Given the description of an element on the screen output the (x, y) to click on. 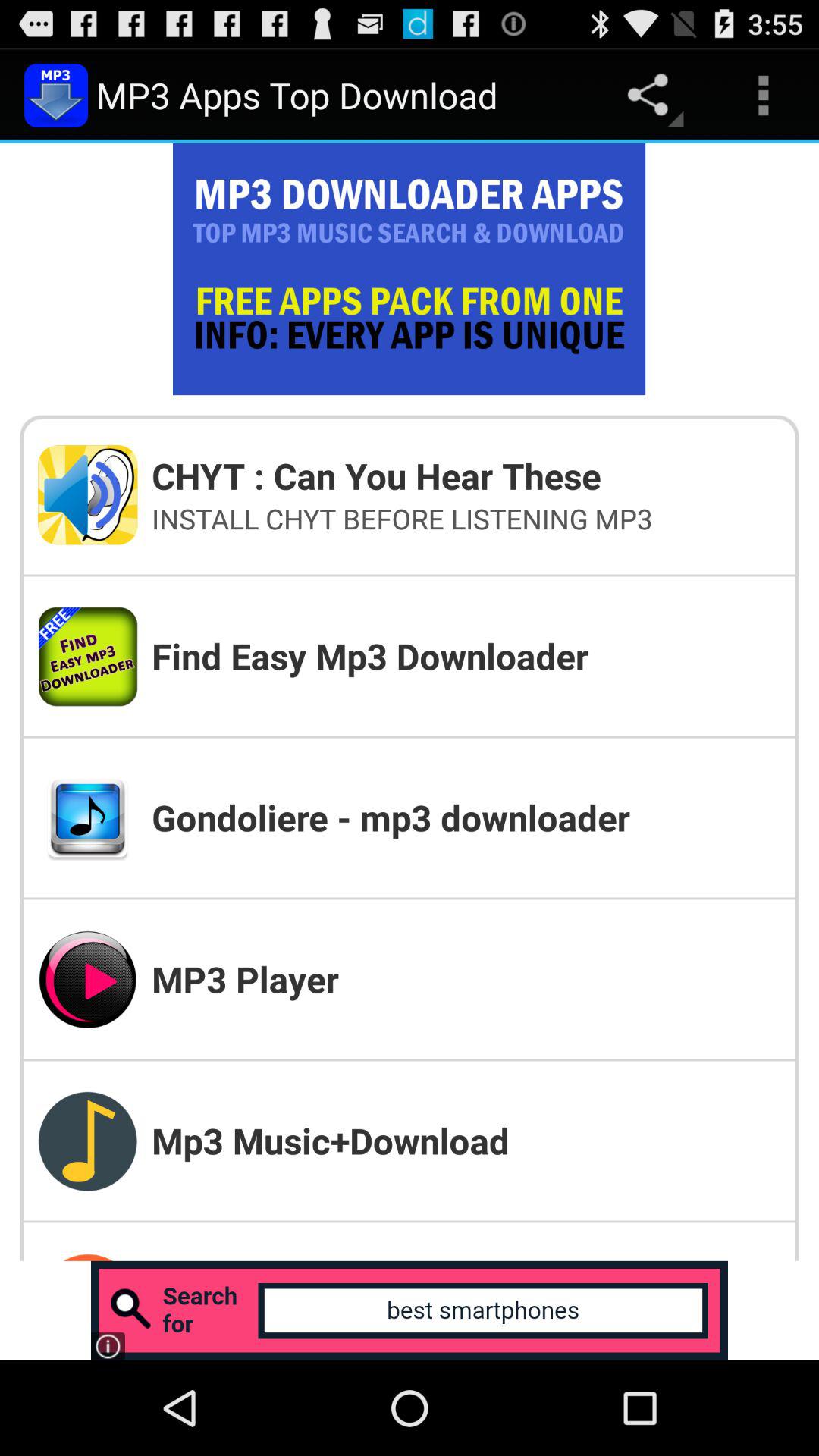
flip until mp3 player (465, 978)
